Given the description of an element on the screen output the (x, y) to click on. 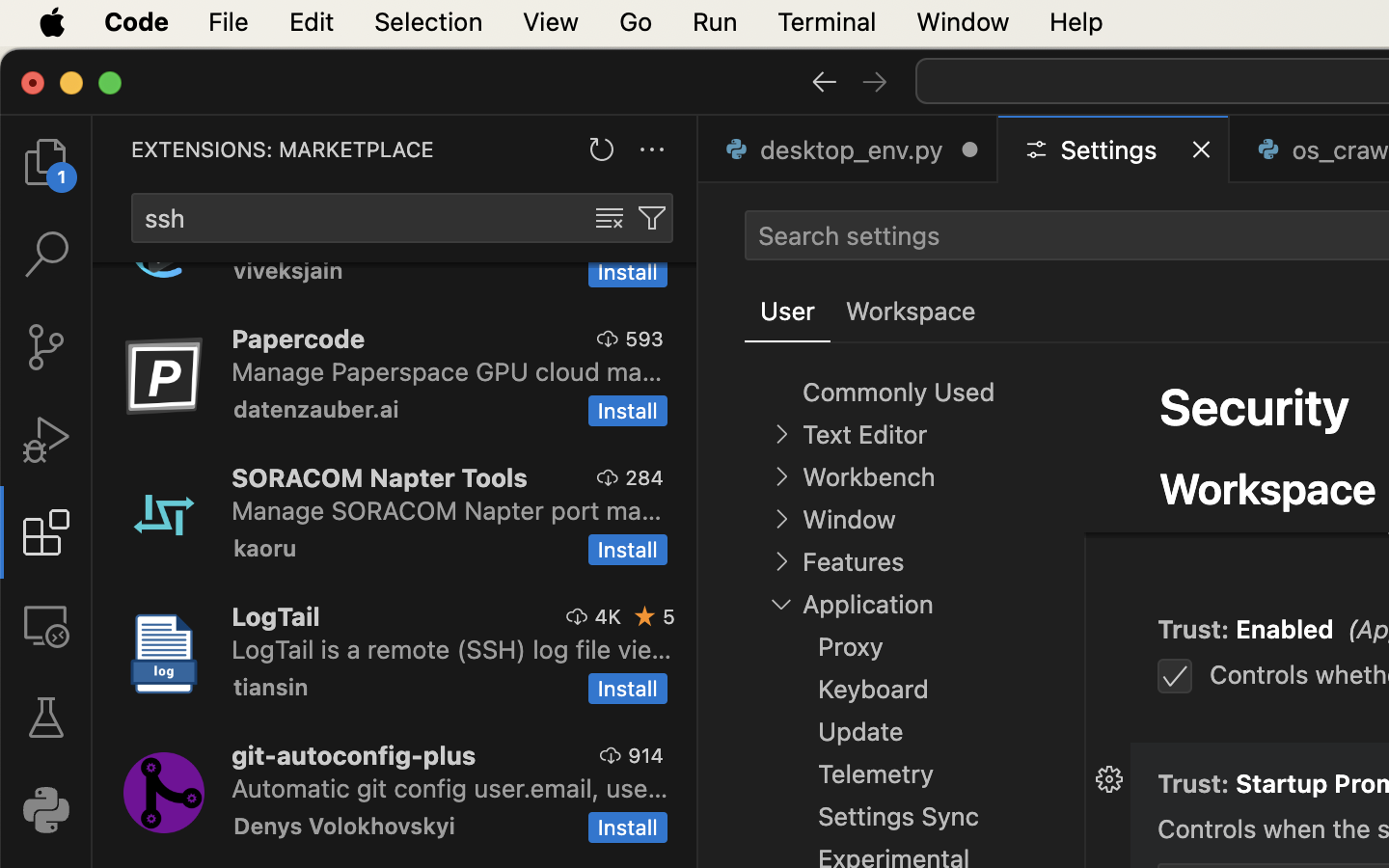
Proxy Element type: AXStaticText (850, 646)
Manage SORACOM Napter port mappings from Visual Studio Code. Element type: AXStaticText (446, 509)
Update Element type: AXStaticText (860, 731)
0 Element type: AXRadioButton (910, 311)
0 desktop_env.py   Element type: AXRadioButton (848, 149)
